Given the description of an element on the screen output the (x, y) to click on. 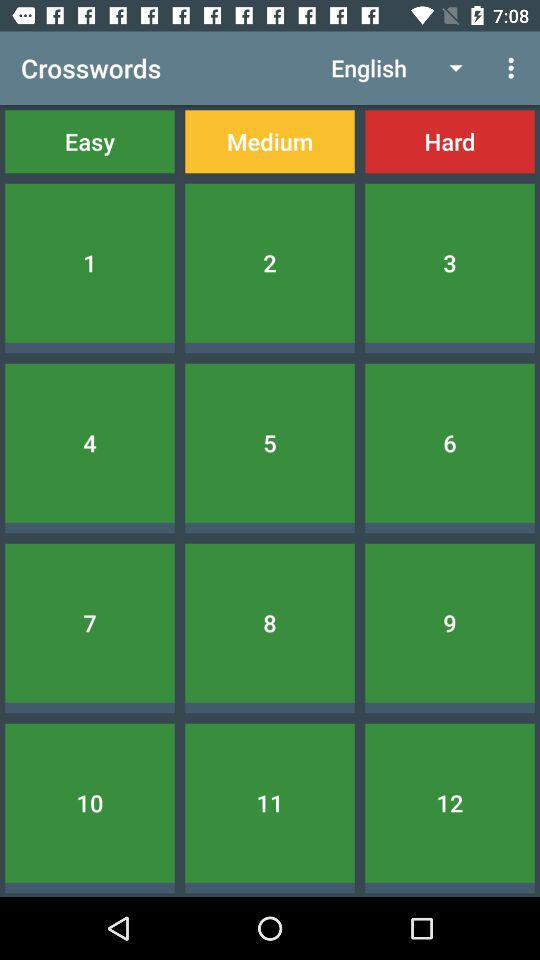
tap icon to the right of english icon (513, 67)
